Given the description of an element on the screen output the (x, y) to click on. 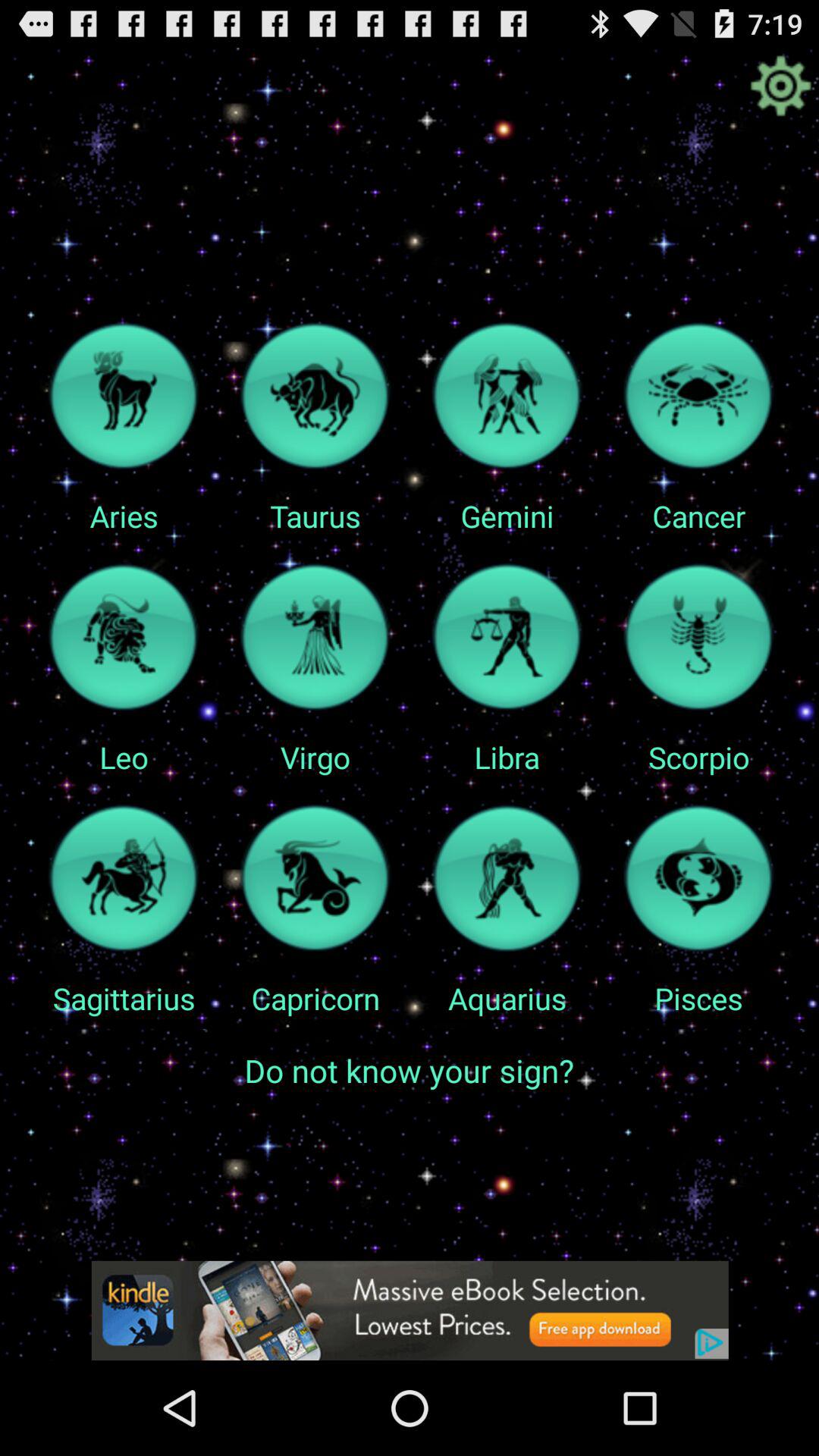
details about advertisement (409, 1310)
